Given the description of an element on the screen output the (x, y) to click on. 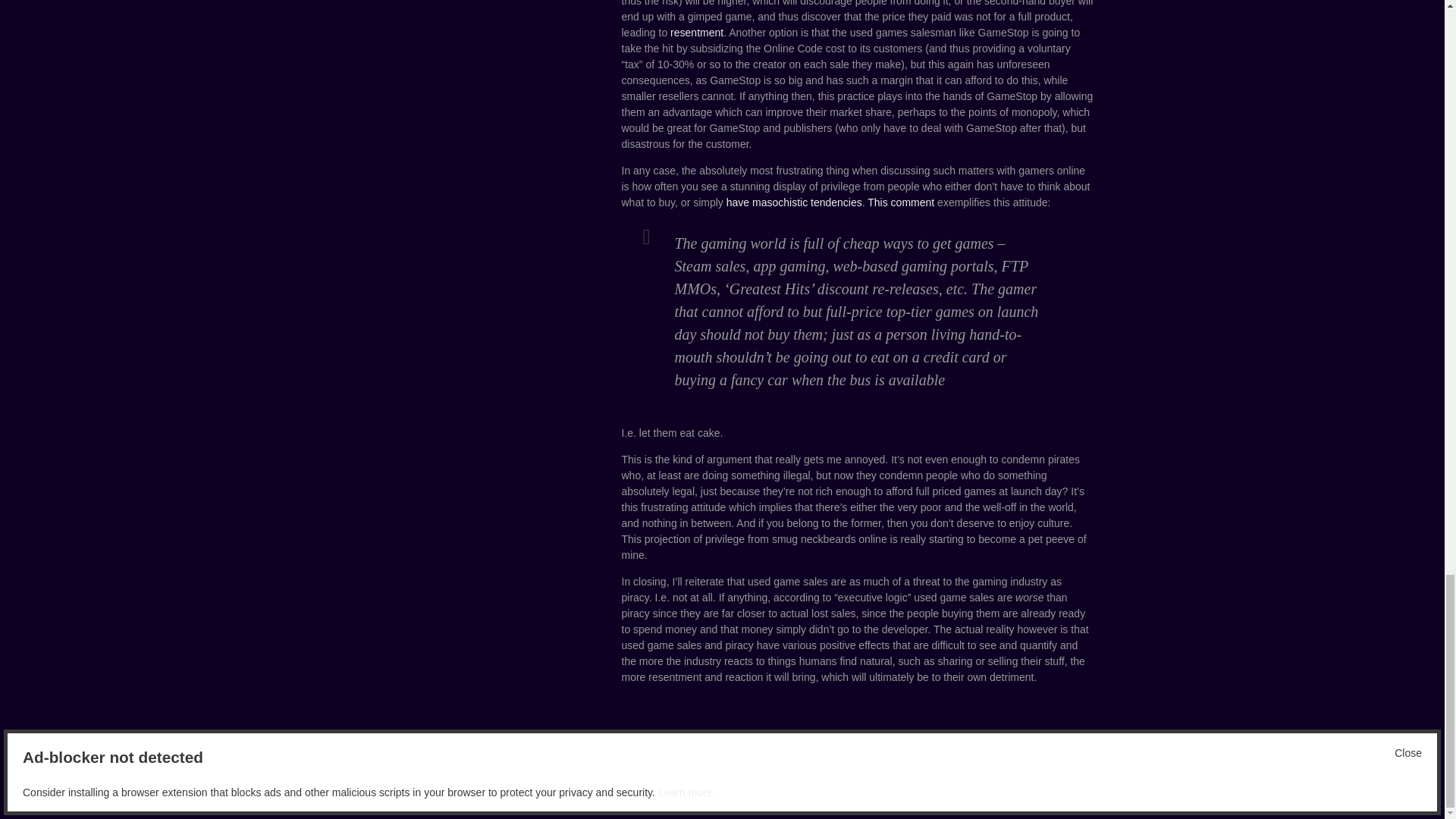
This comment (900, 202)
PIRACY (868, 742)
Sigmoid (432, 788)
Free dark wordpress theme (1038, 788)
MARKET (827, 742)
resentment (696, 32)
GAMESTOP (780, 742)
GAMES (700, 742)
have masochistic tendencies (793, 202)
Hachyderm (377, 788)
